Given the description of an element on the screen output the (x, y) to click on. 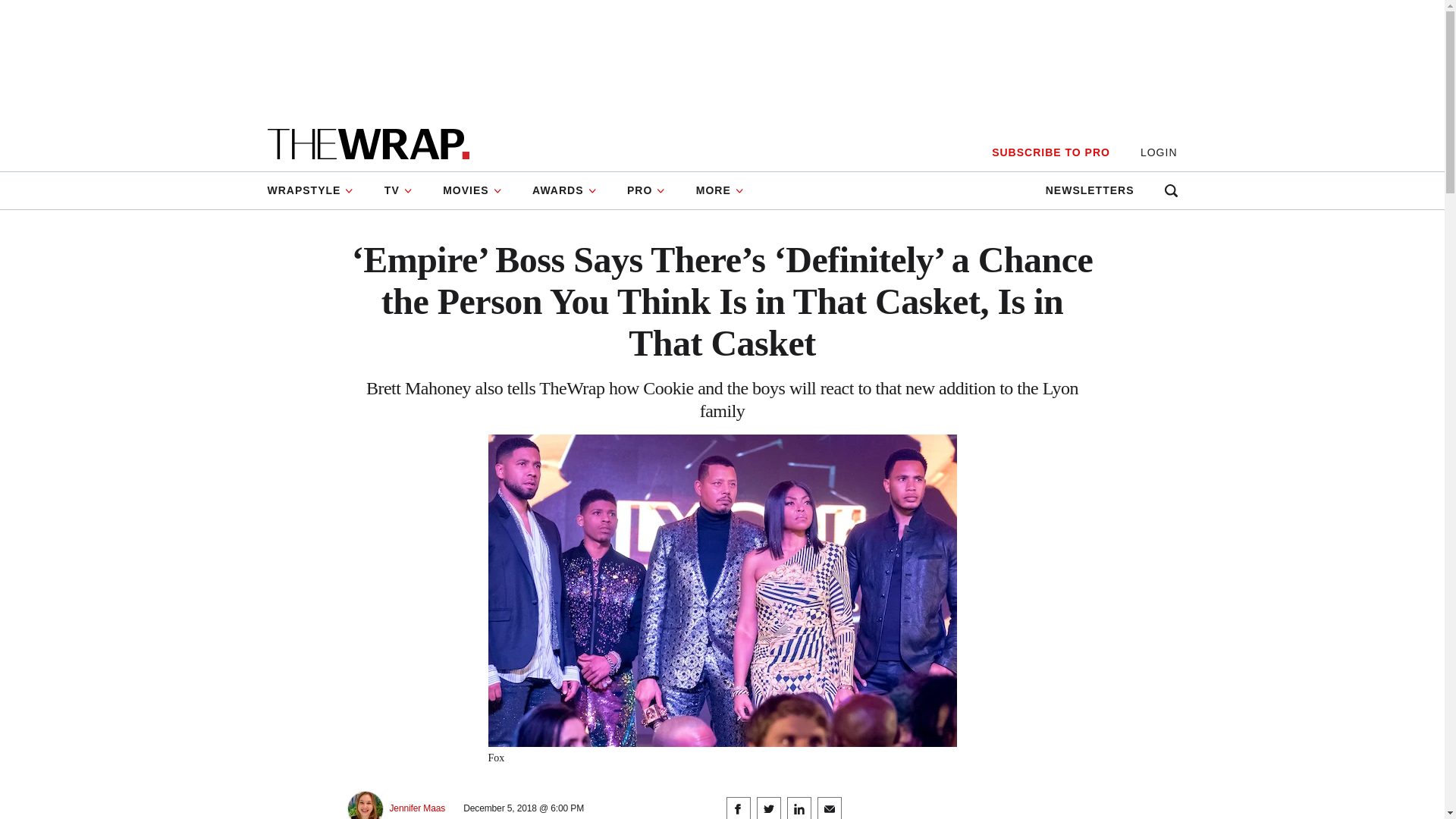
TV (398, 190)
AWARDS (563, 190)
MORE (719, 190)
LOGIN (1158, 152)
MOVIES (472, 190)
PRO (646, 190)
Posts by Jennifer Maas (417, 808)
SUBSCRIBE TO PRO (1050, 152)
WRAPSTYLE (317, 190)
